Given the description of an element on the screen output the (x, y) to click on. 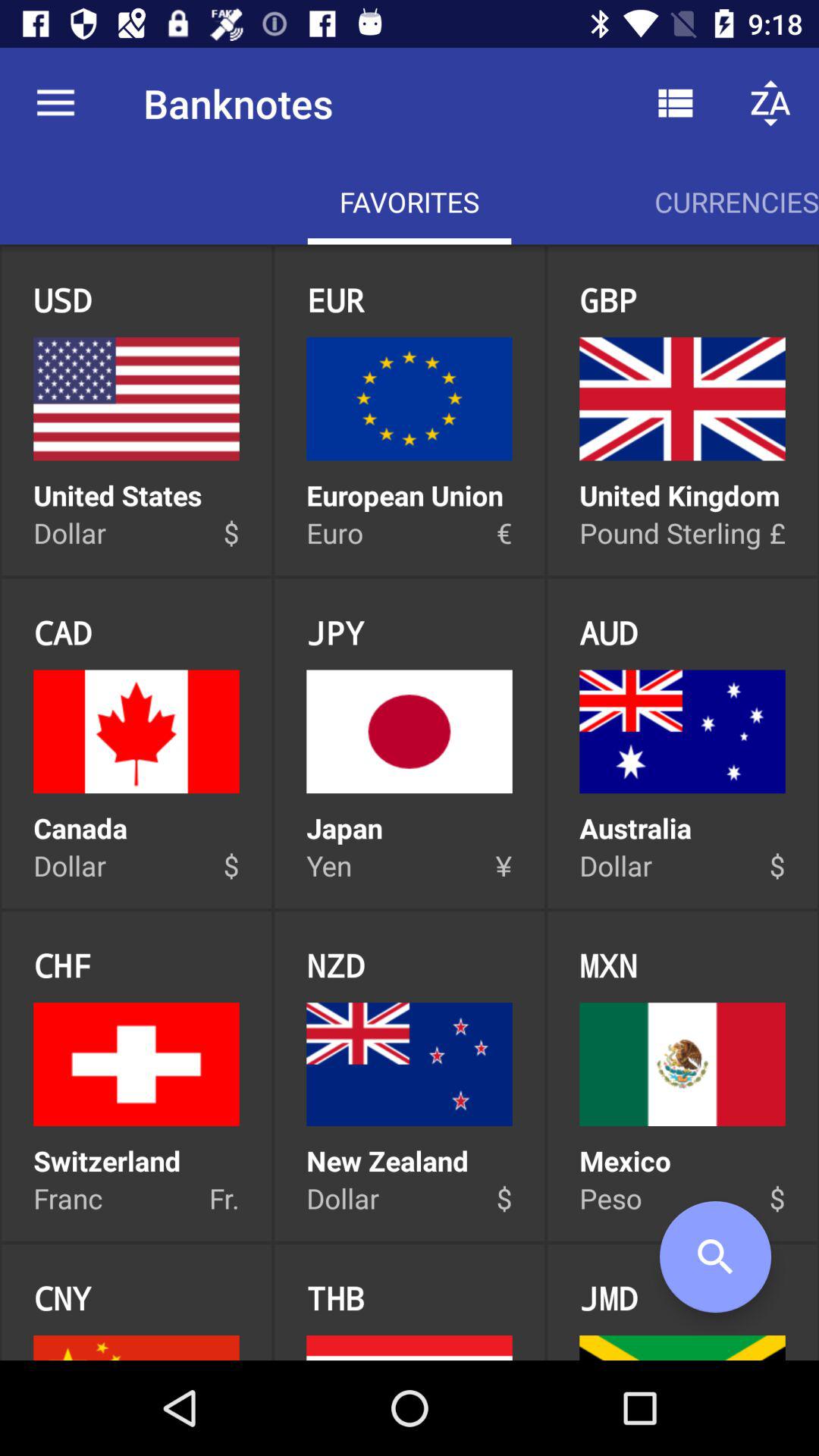
press item next to banknotes (675, 103)
